Given the description of an element on the screen output the (x, y) to click on. 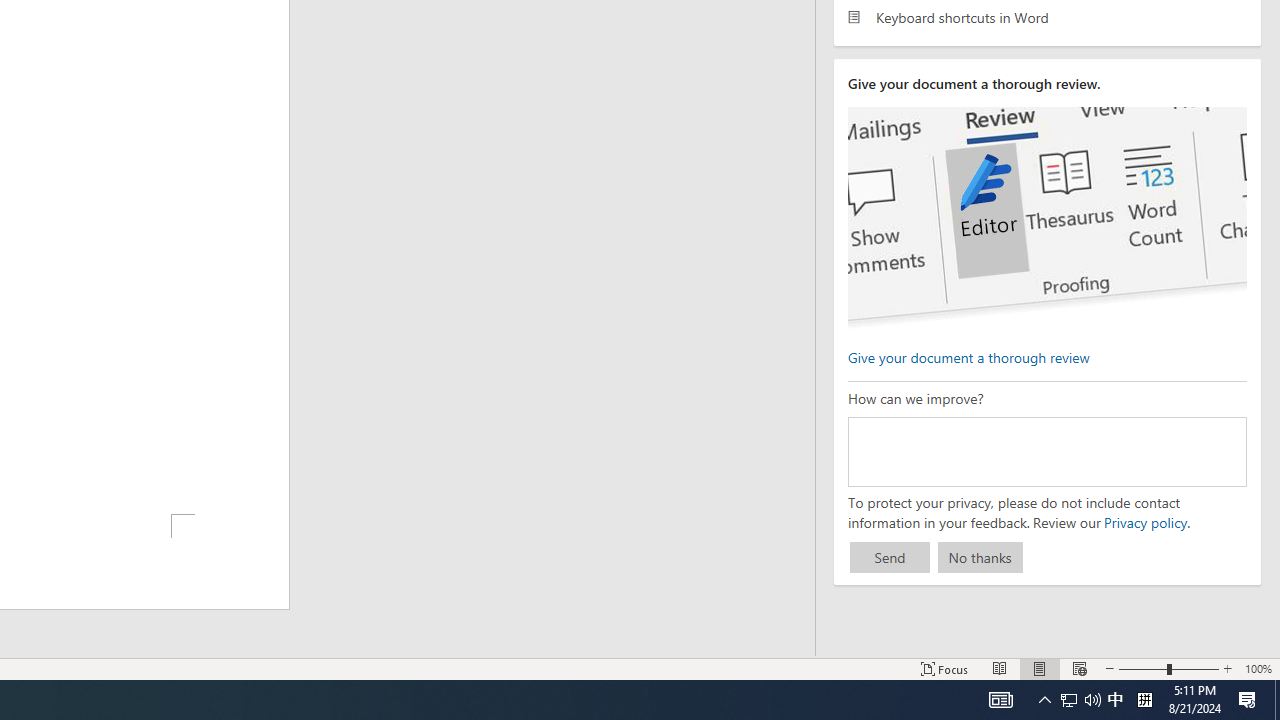
Give your document a thorough review (968, 356)
Zoom 100% (1258, 668)
Send (889, 557)
Keyboard shortcuts in Word (1047, 16)
No thanks (980, 557)
Privacy policy (1144, 522)
How can we improve? (1046, 451)
editor ui screenshot (1046, 218)
